Given the description of an element on the screen output the (x, y) to click on. 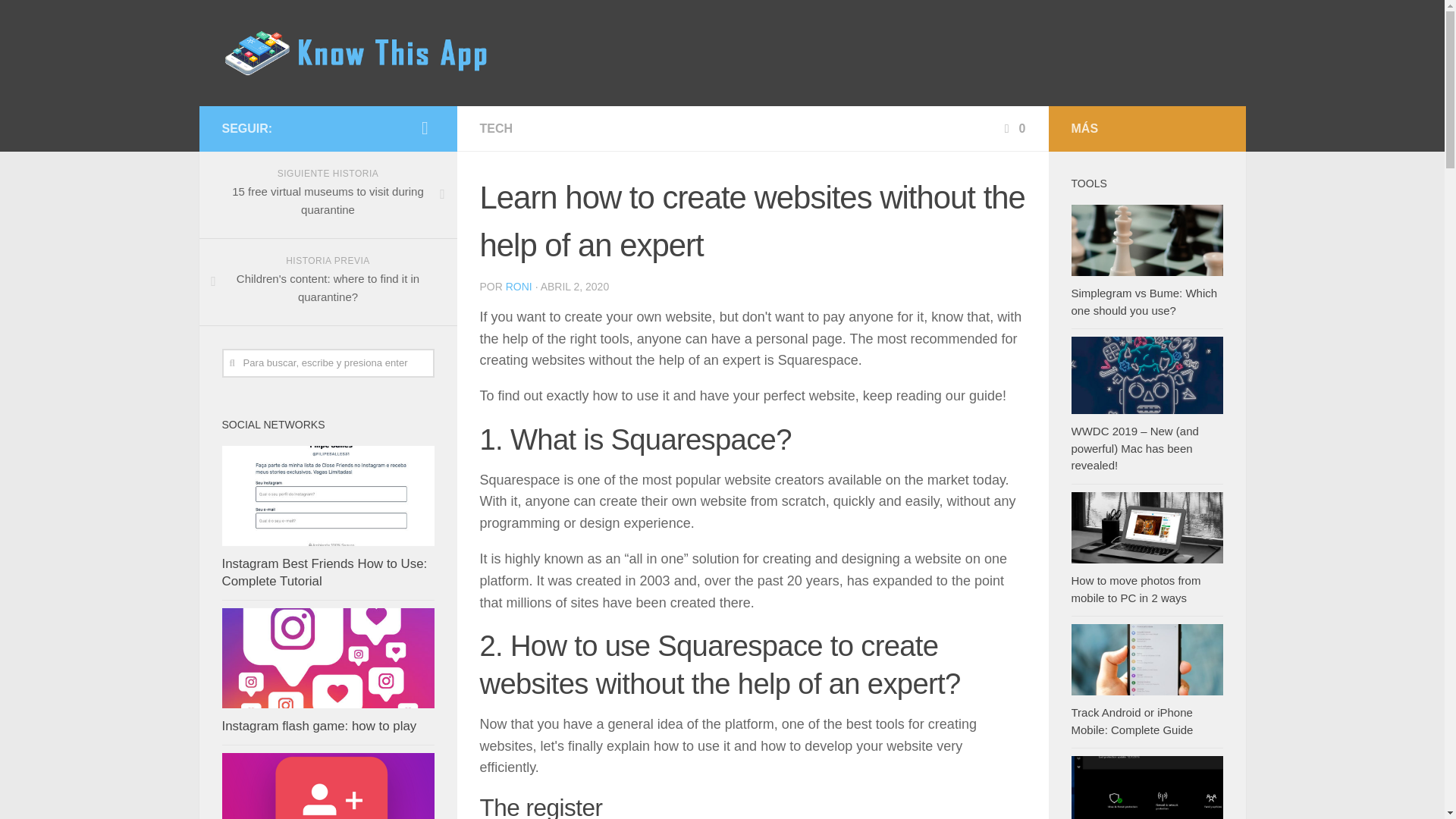
Instagram flash game: how to play (318, 726)
Instagram Best Friends How to Use: Complete Tutorial (323, 572)
RONI (518, 286)
0 (1013, 128)
Para buscar, escribe y presiona enter (327, 362)
Para buscar, escribe y presiona enter (327, 362)
Entradas de Roni (518, 286)
TECH (495, 128)
